Given the description of an element on the screen output the (x, y) to click on. 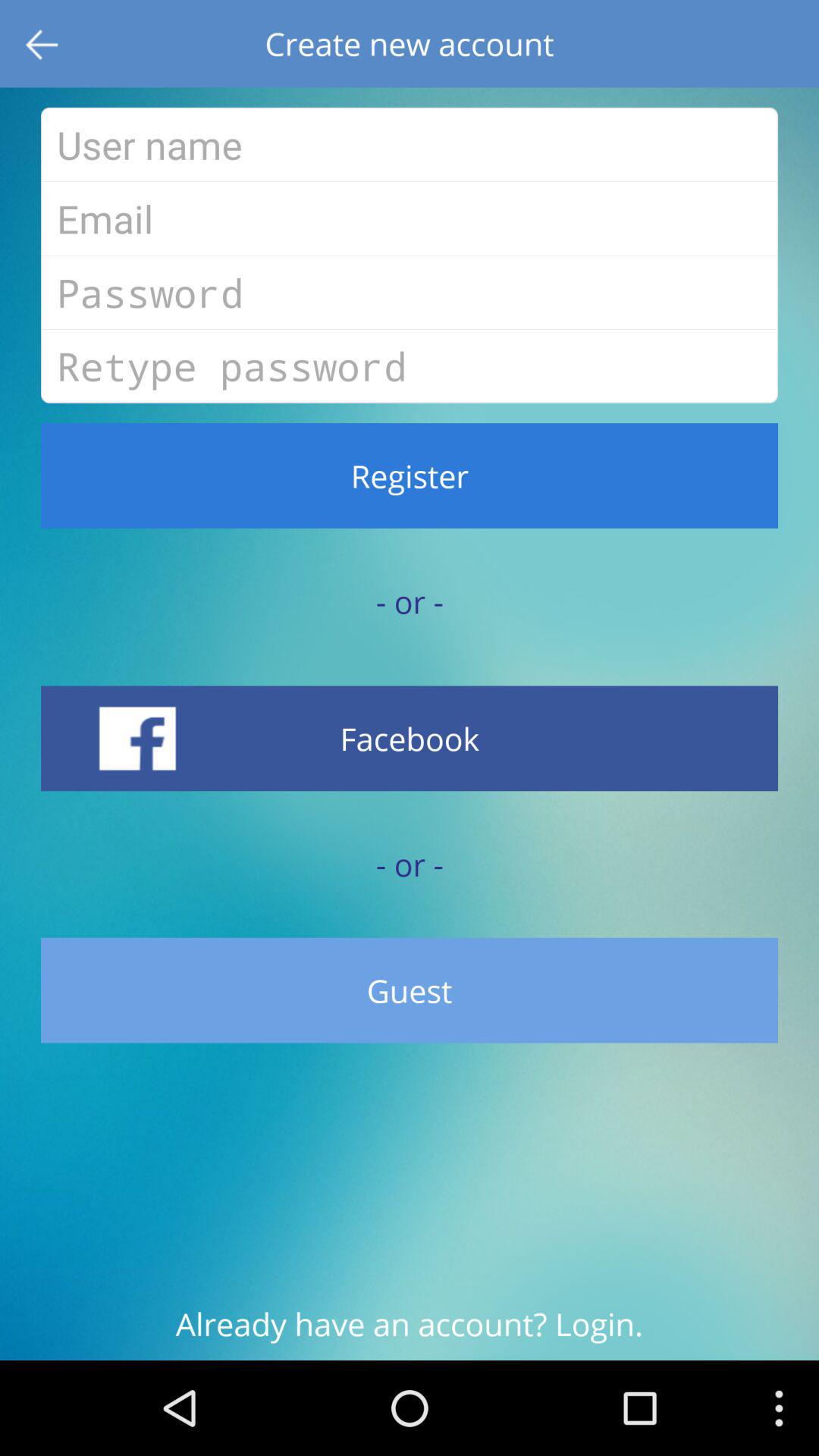
your email (409, 218)
